Given the description of an element on the screen output the (x, y) to click on. 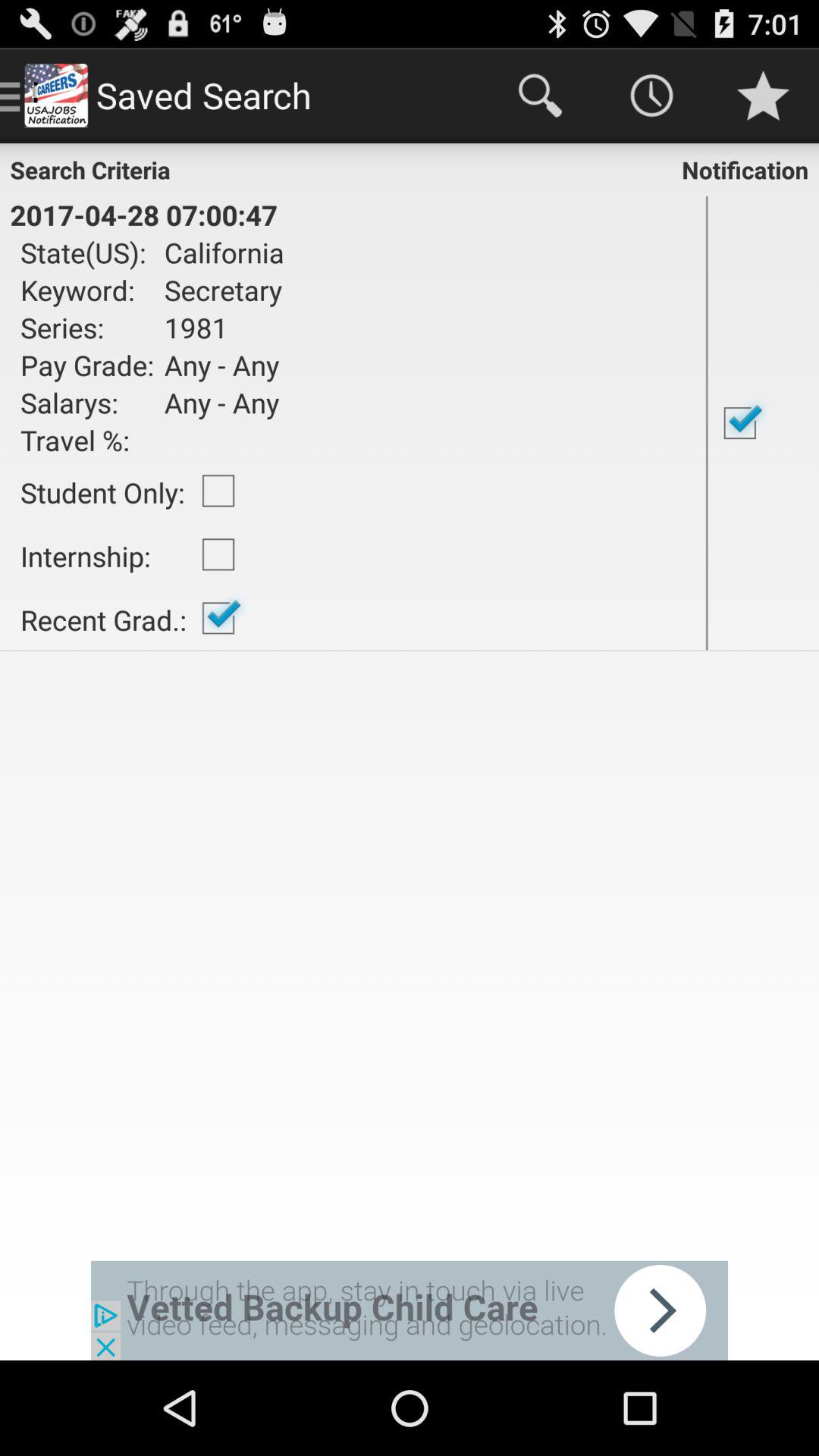
open item to the left of california item (87, 289)
